Given the description of an element on the screen output the (x, y) to click on. 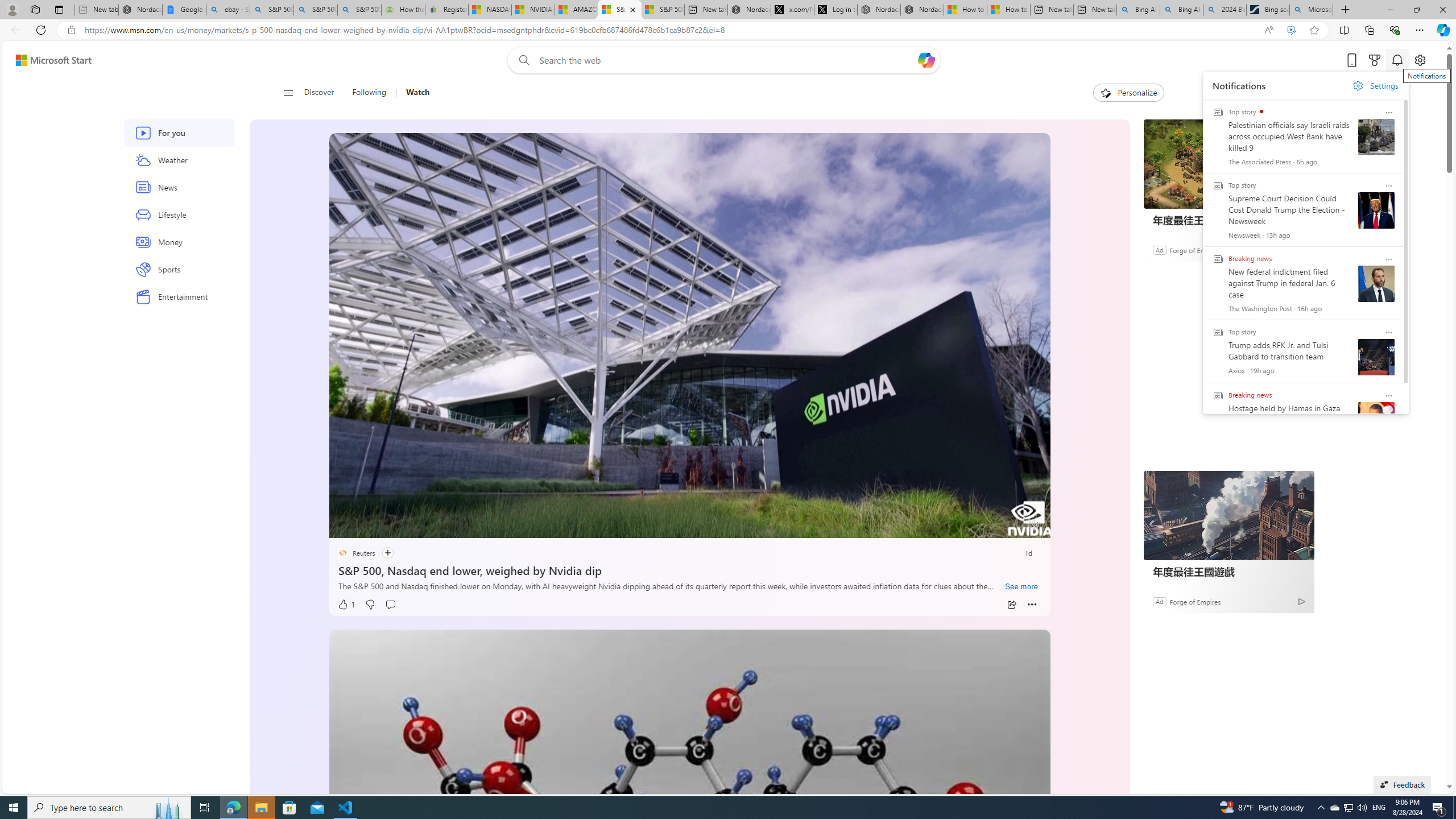
Web search (520, 60)
S&P 500, Nasdaq end lower, weighed by Nvidia dip (689, 568)
x.com/NordaceOfficial (791, 9)
Captions (988, 525)
Bing AI - Search (1181, 9)
How the S&P 500 Performed During Major Market Crashes (403, 9)
Share (1010, 604)
Forge of Empires (1194, 601)
1 Like (345, 604)
